Given the description of an element on the screen output the (x, y) to click on. 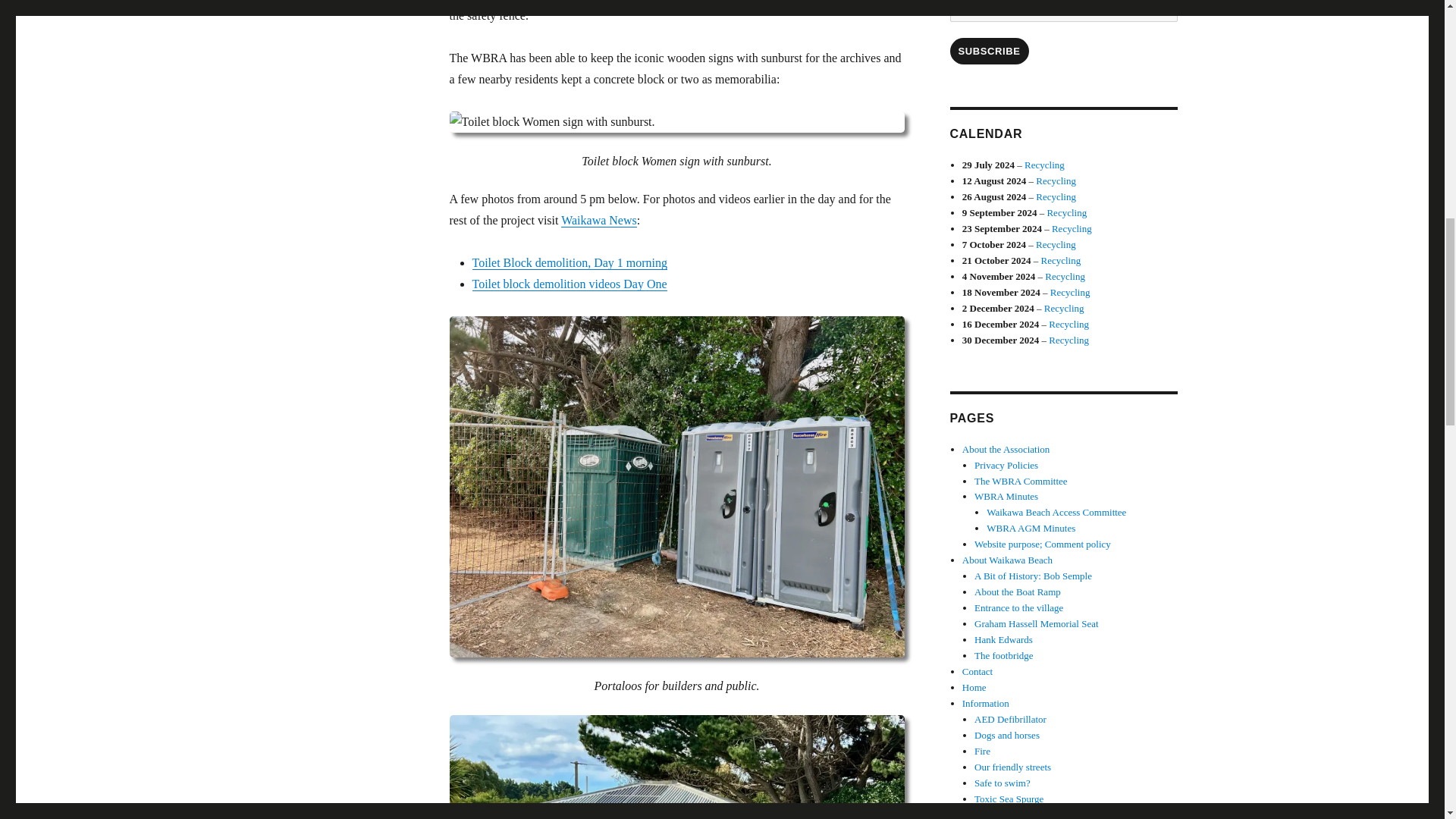
Toilet block demolition videos Day One (568, 283)
Toilet Block demolition, Day 1 morning (568, 262)
Waikawa News (598, 219)
